Given the description of an element on the screen output the (x, y) to click on. 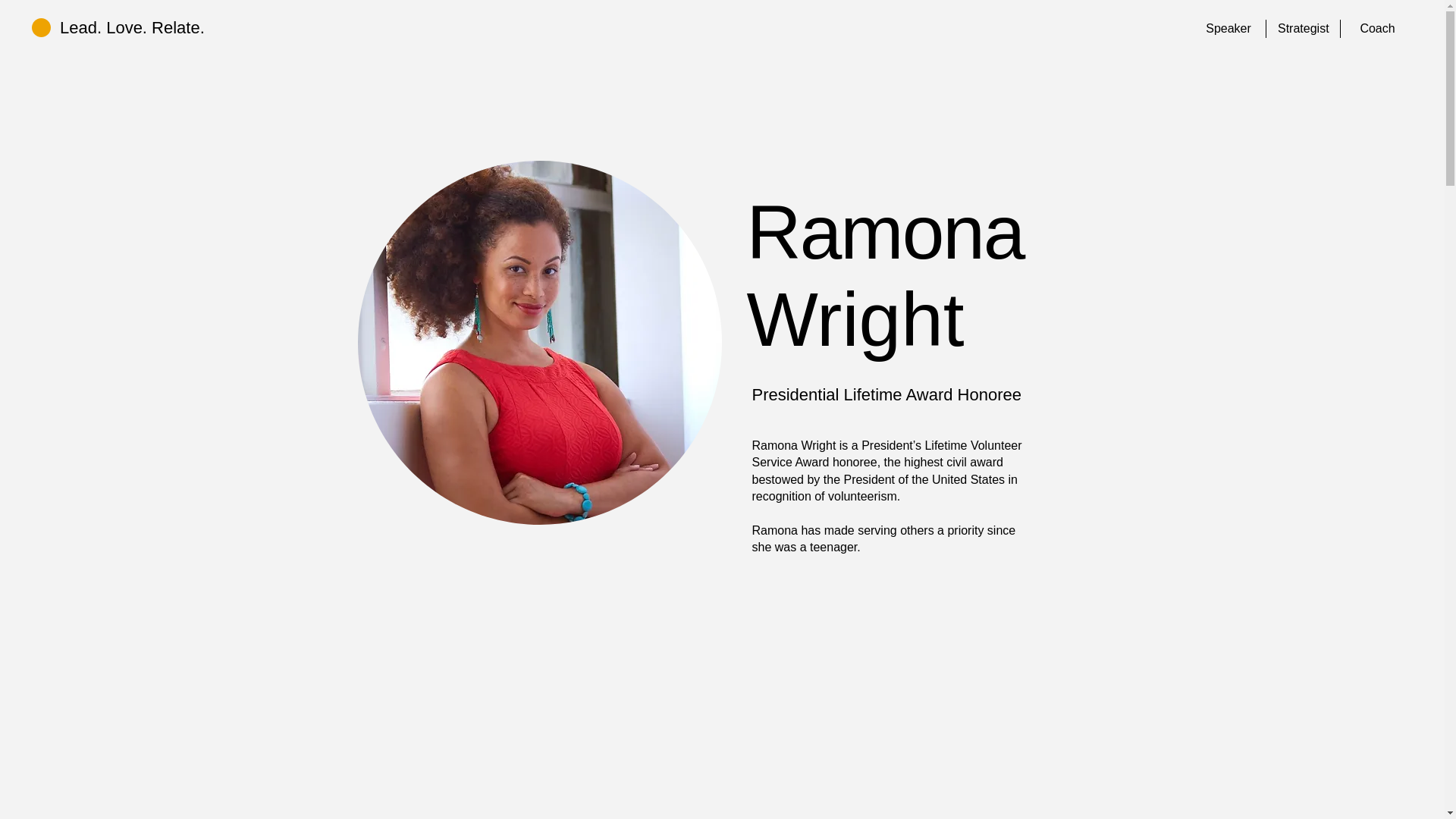
Lead. Love. Relate. (132, 27)
Strategist (1302, 28)
Speaker (1228, 28)
Coach (1376, 28)
